Given the description of an element on the screen output the (x, y) to click on. 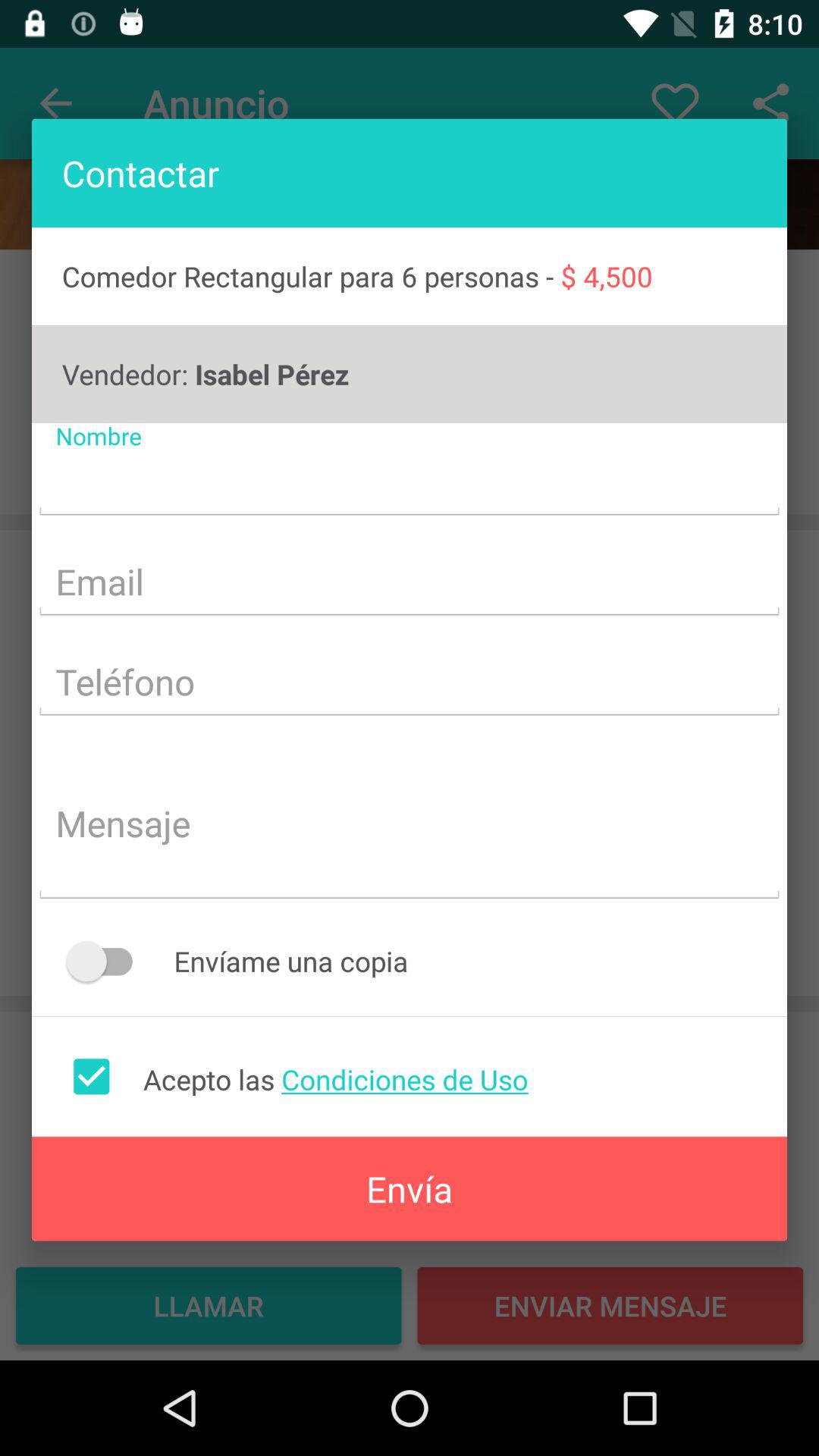
toggle (106, 961)
